Given the description of an element on the screen output the (x, y) to click on. 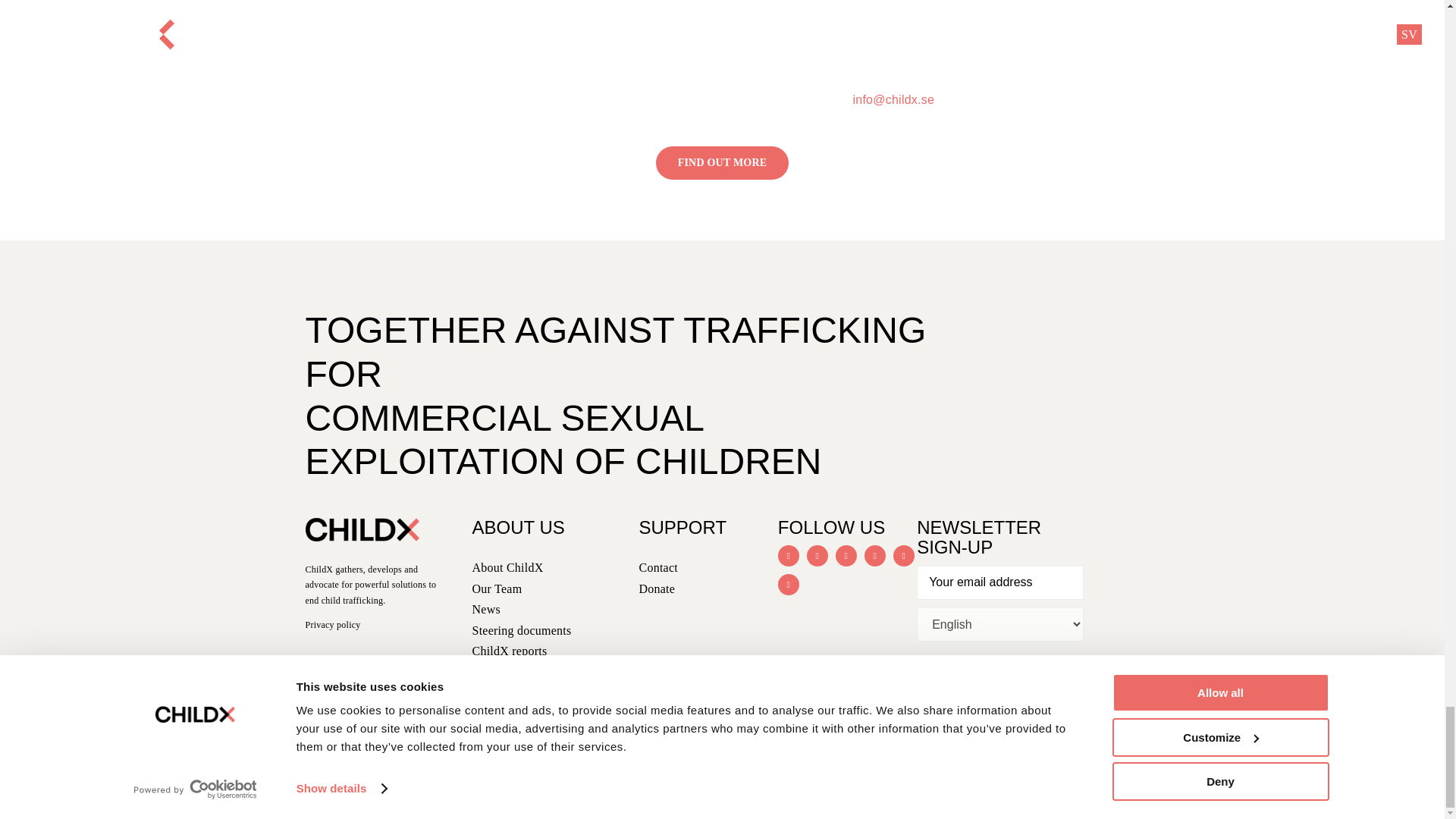
SIGN UP (960, 710)
1 (925, 672)
